Given the description of an element on the screen output the (x, y) to click on. 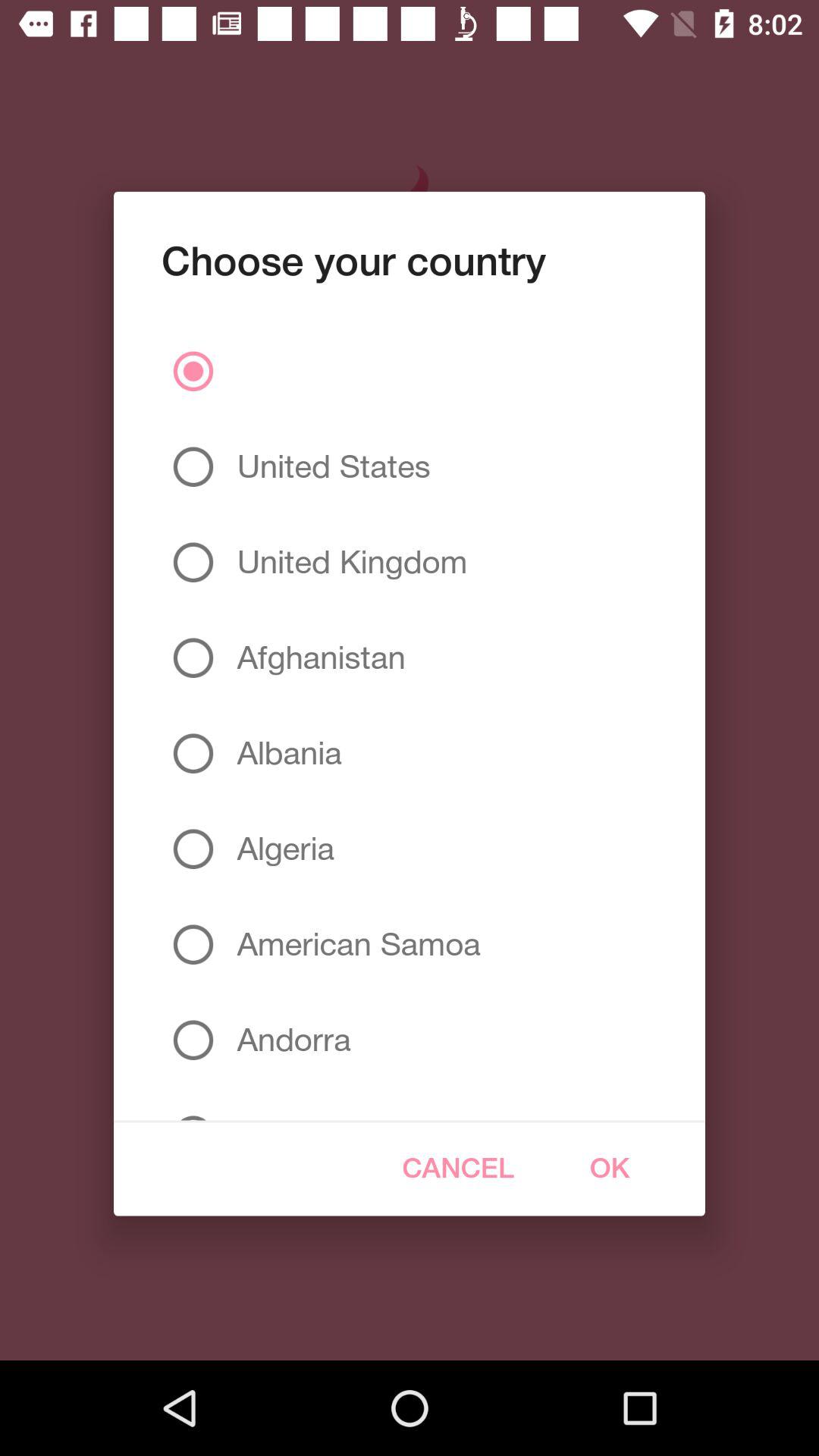
launch albania item (283, 753)
